Given the description of an element on the screen output the (x, y) to click on. 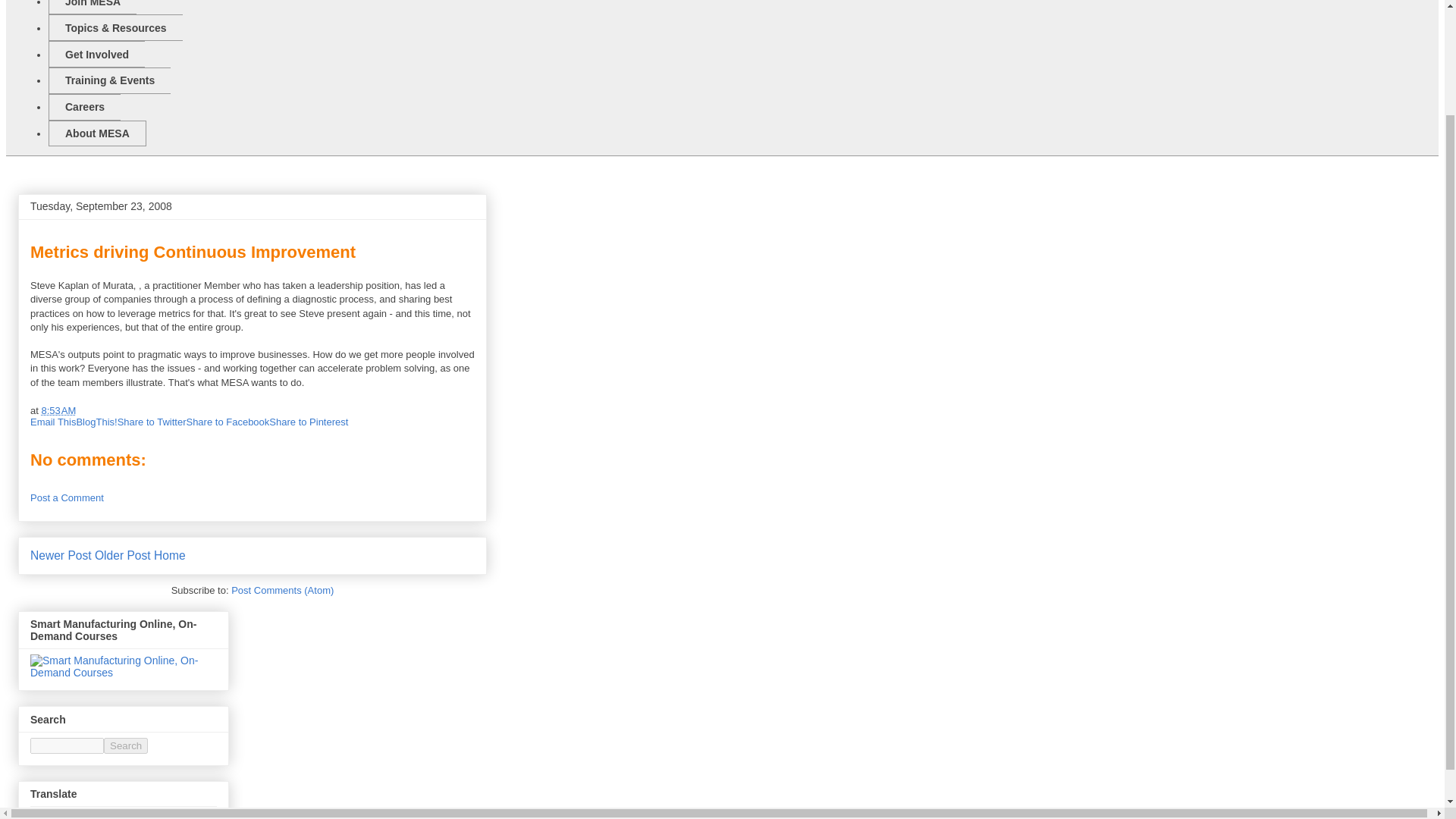
Share to Facebook (227, 421)
BlogThis! (95, 421)
Share to Pinterest (308, 421)
Home (170, 554)
Share to Twitter (151, 421)
permanent link (57, 410)
search (125, 745)
Get Involved (96, 53)
Post a Comment (66, 497)
Newer Post (60, 554)
